Given the description of an element on the screen output the (x, y) to click on. 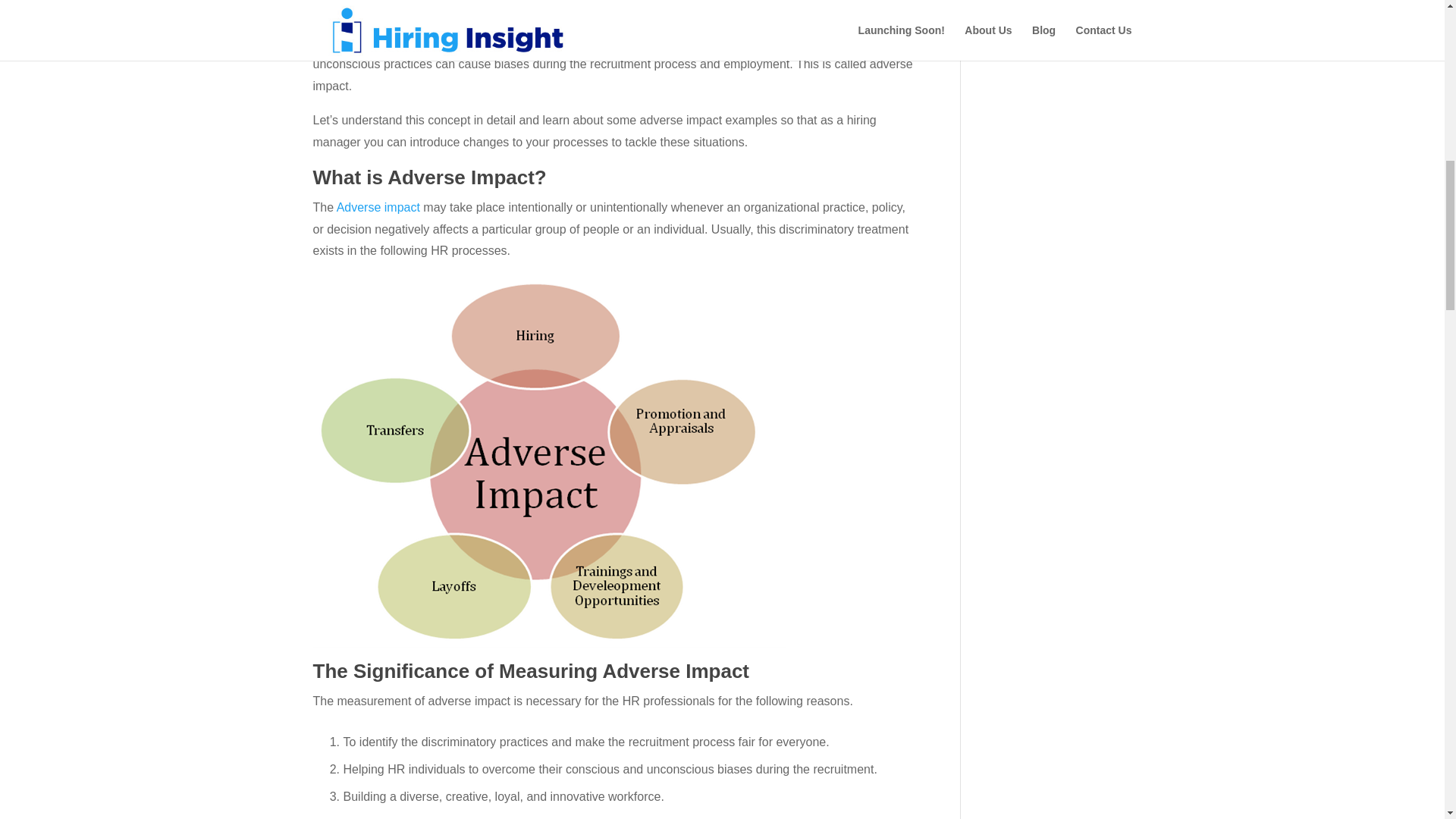
Adverse impact (378, 206)
